Given the description of an element on the screen output the (x, y) to click on. 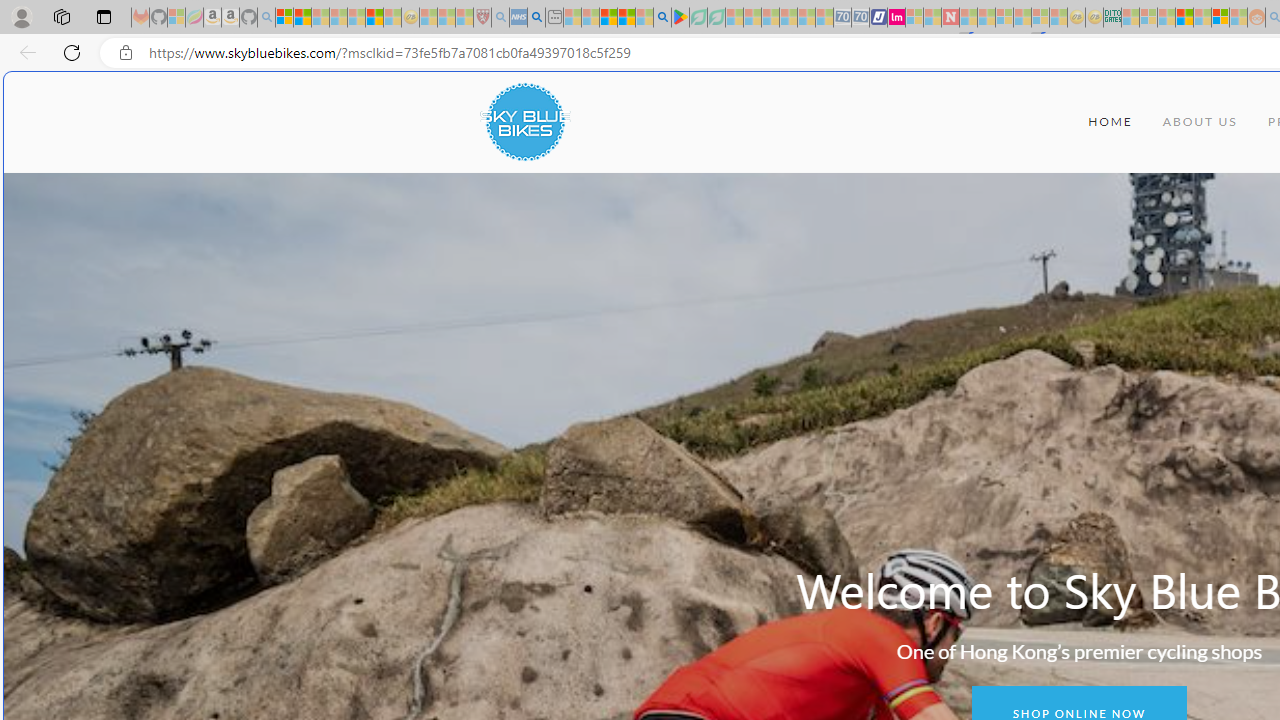
Bluey: Let's Play! - Apps on Google Play (680, 17)
